Given the description of an element on the screen output the (x, y) to click on. 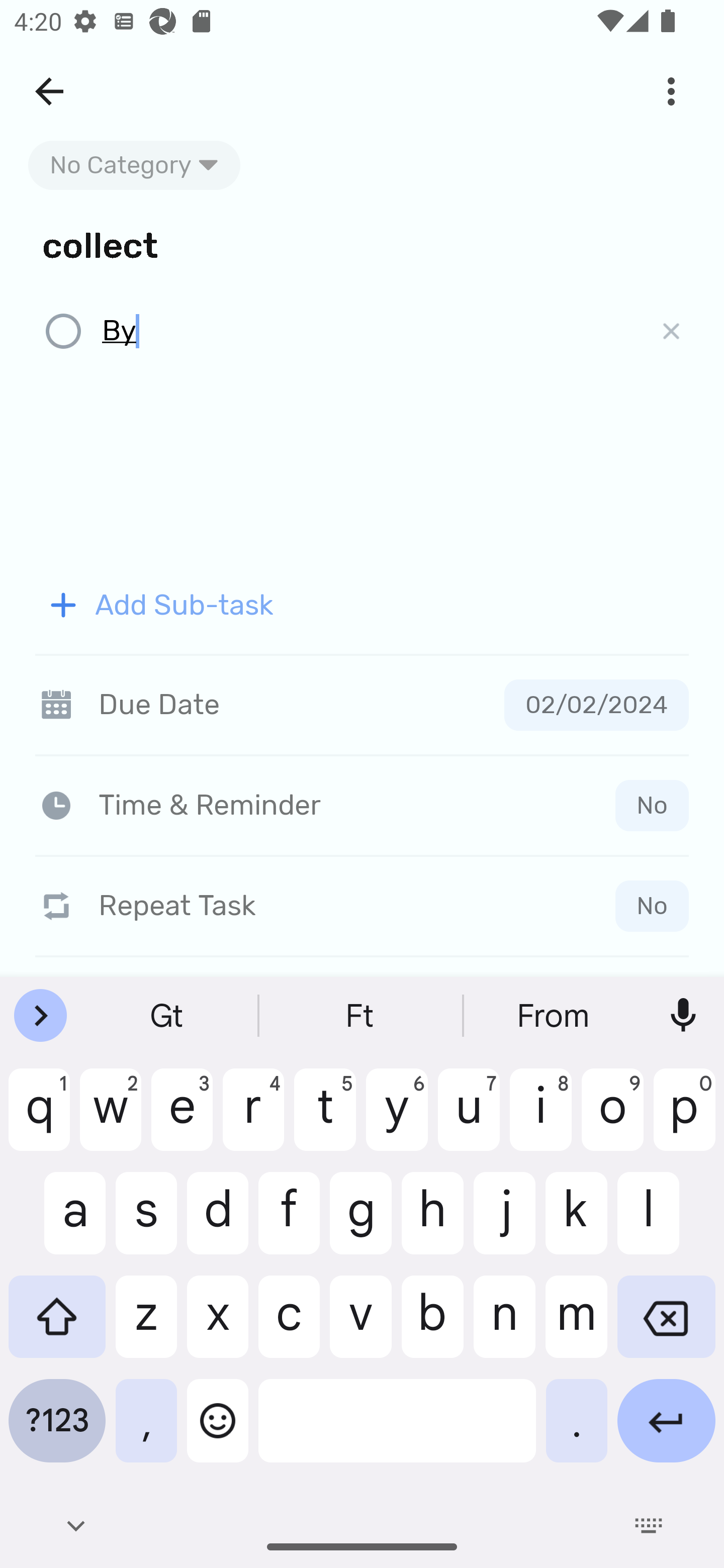
No Category (134, 165)
collect (362, 244)
By (366, 331)
Add Sub-task (362, 604)
Due Date 02/02/2024 (362, 704)
Time & Reminder No (365, 804)
Repeat Task No (362, 905)
